Given the description of an element on the screen output the (x, y) to click on. 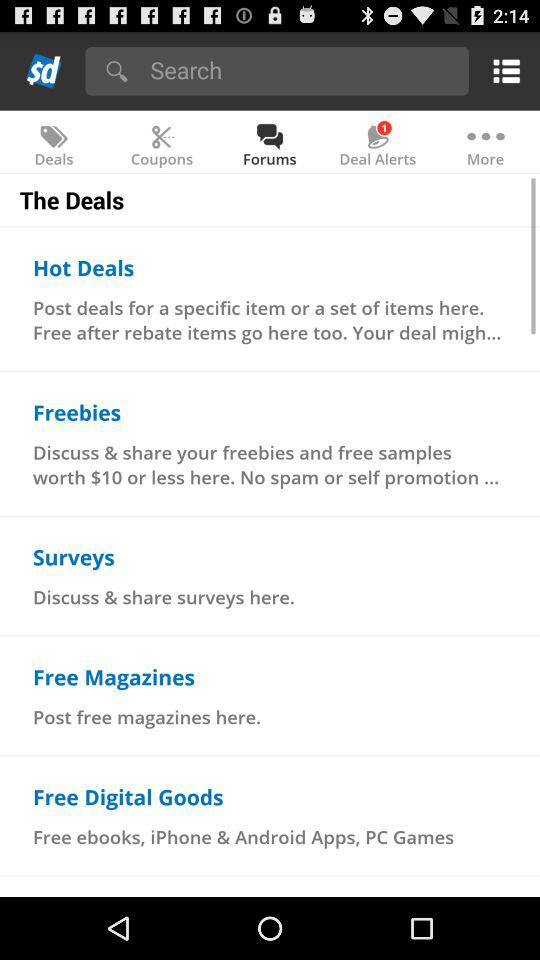
search menu (302, 69)
